Given the description of an element on the screen output the (x, y) to click on. 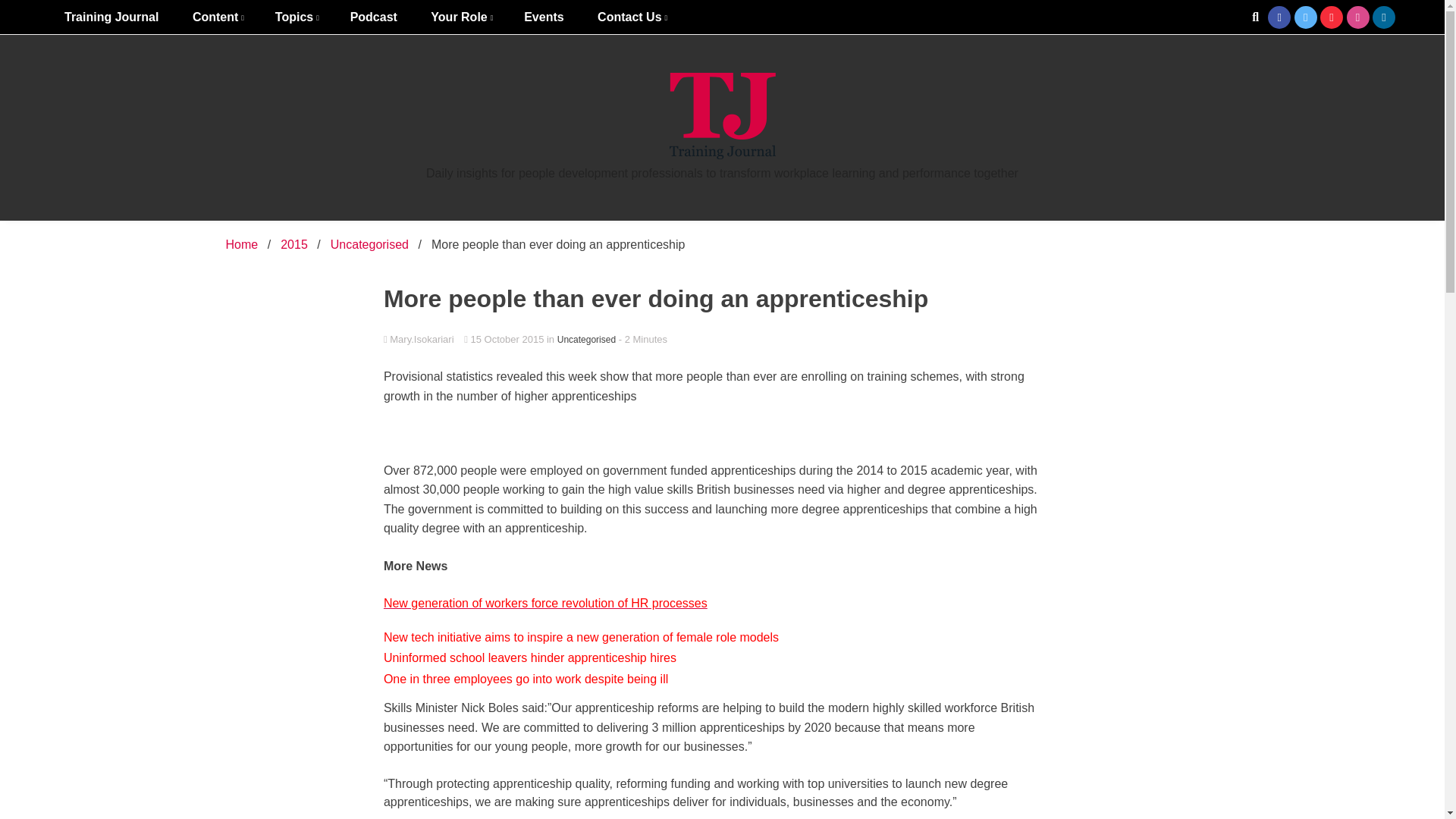
Content (216, 17)
Events (543, 17)
Training Journal (111, 17)
Podcast (373, 17)
Estimated Reading Time of Article (642, 338)
Topics (295, 17)
Your Role (459, 17)
